Given the description of an element on the screen output the (x, y) to click on. 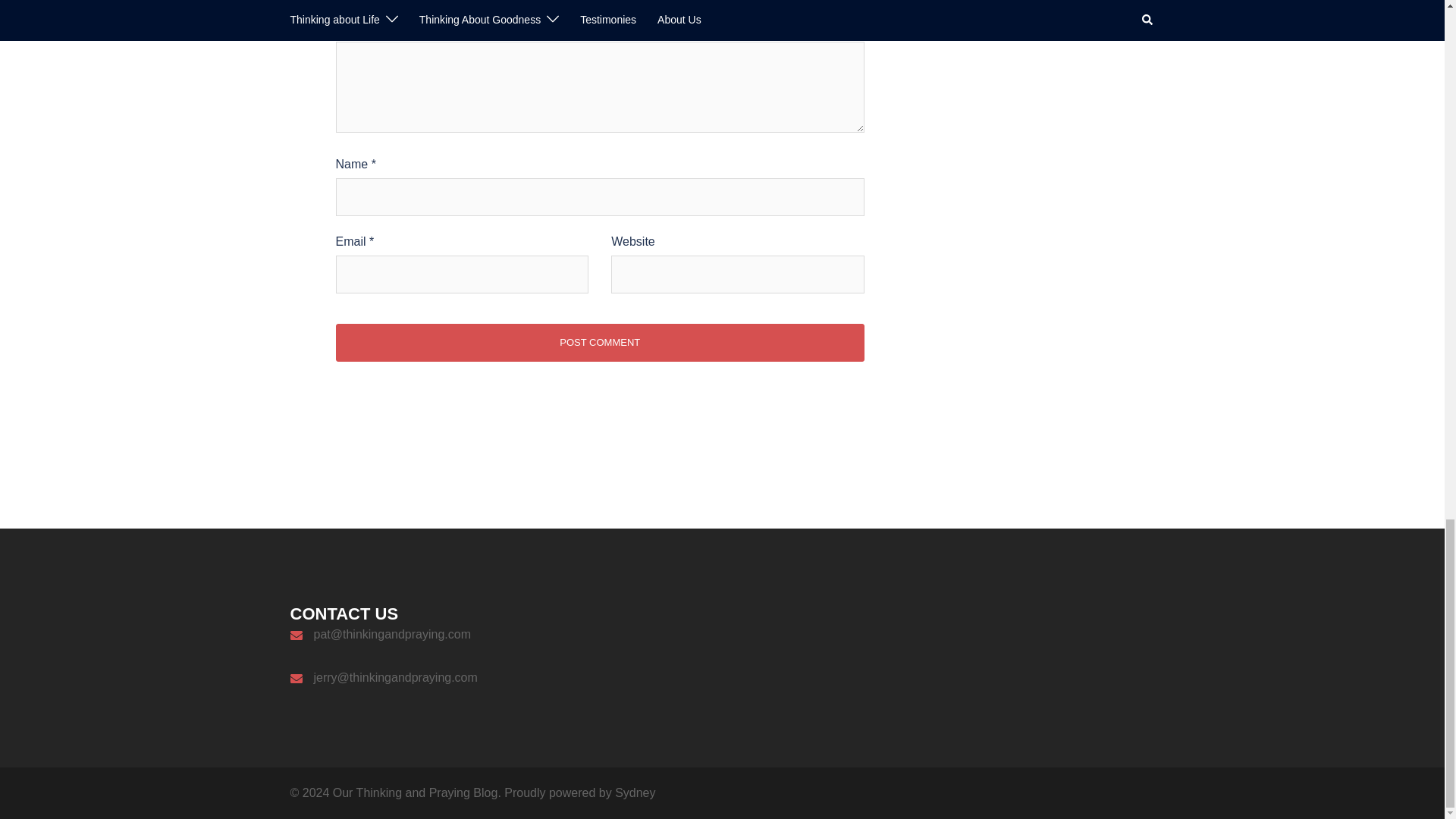
Post Comment (599, 342)
Post Comment (599, 342)
